Given the description of an element on the screen output the (x, y) to click on. 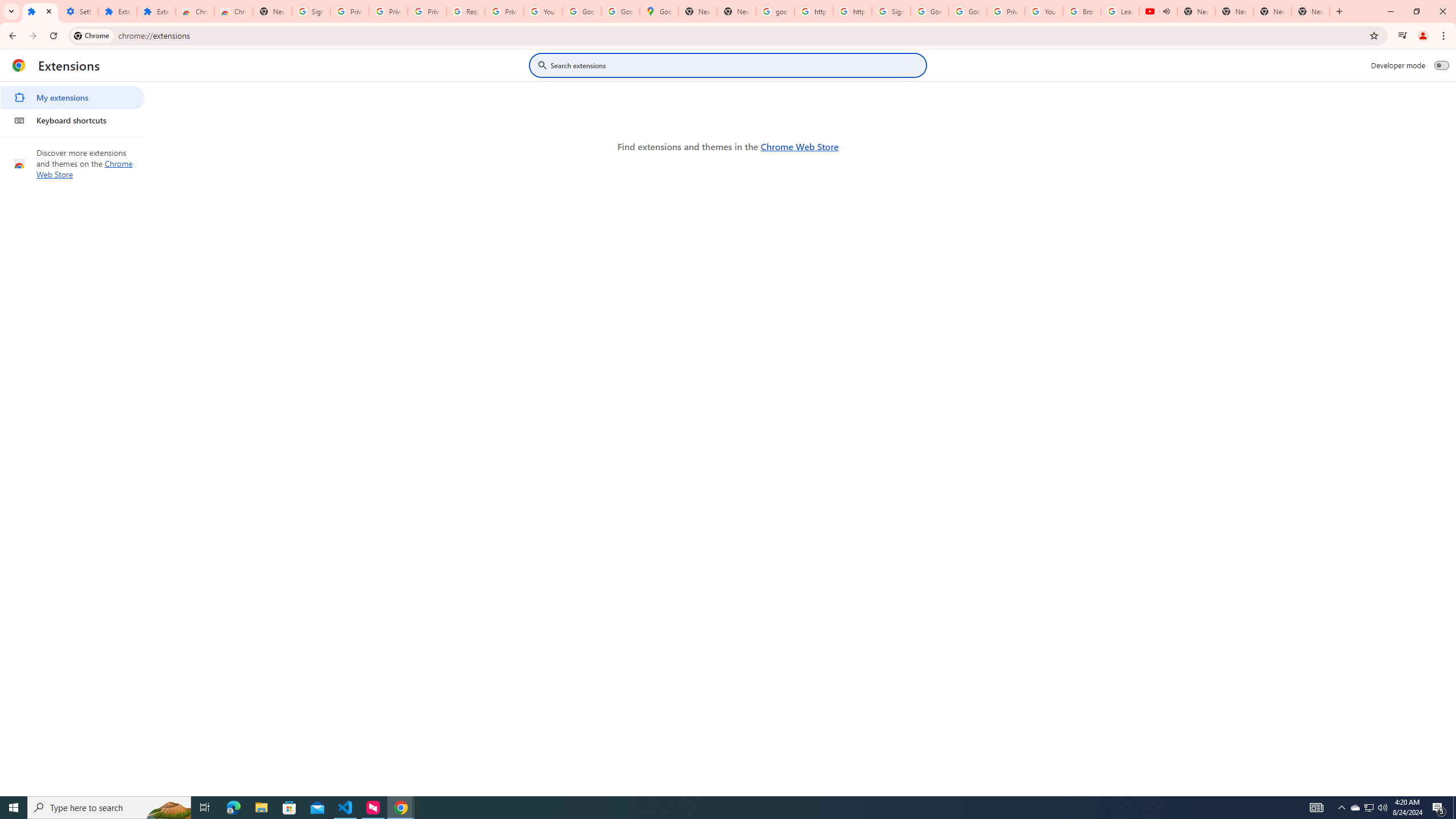
New Tab (272, 11)
Keyboard shortcuts (72, 119)
My extensions (72, 97)
https://scholar.google.com/ (852, 11)
Extensions (156, 11)
